Given the description of an element on the screen output the (x, y) to click on. 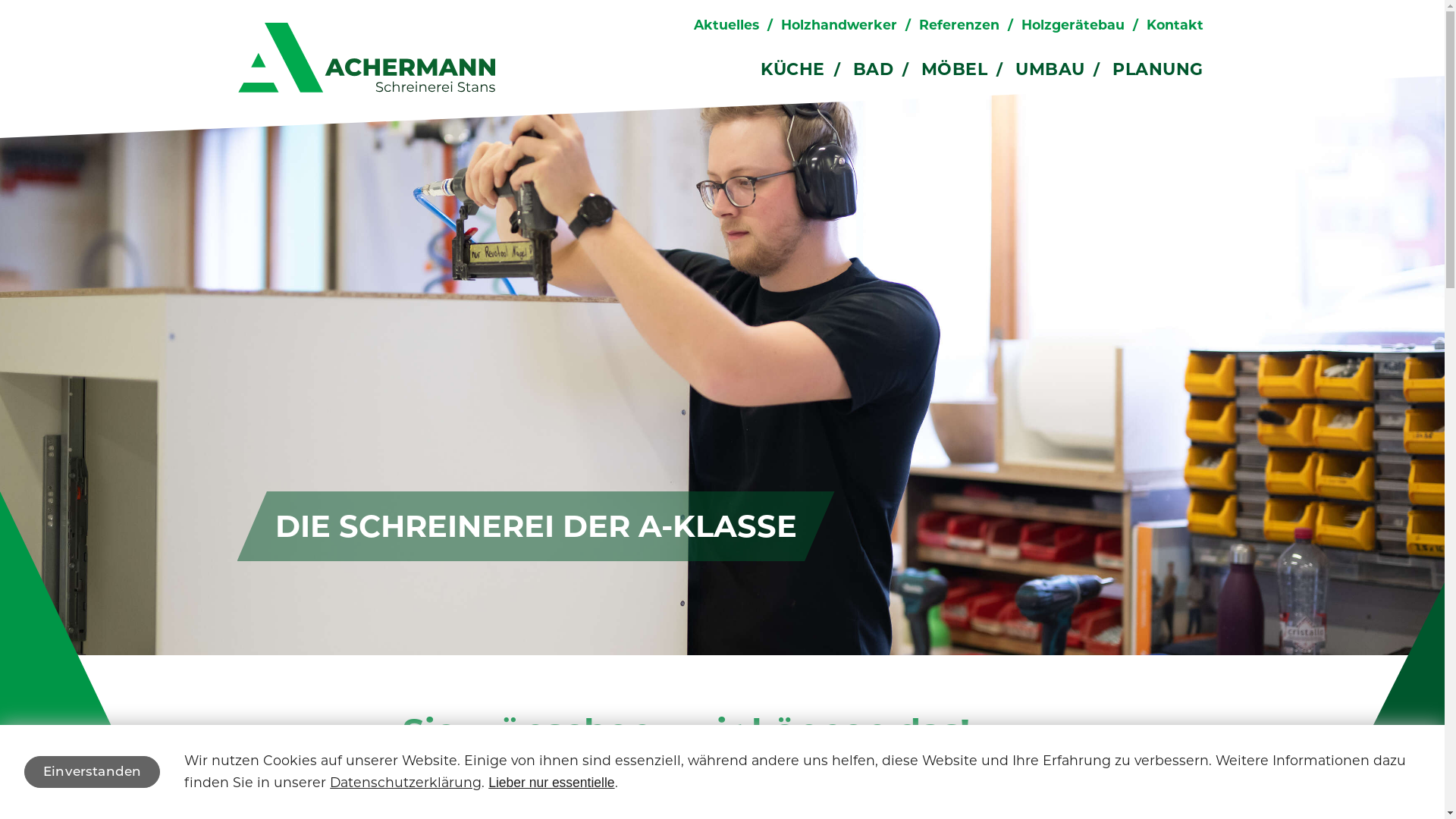
Kontakt Element type: text (1175, 24)
Holzhandwerker Element type: text (838, 24)
Referenzen Element type: text (959, 24)
BAD Element type: text (872, 69)
Achermann Schreinerei AG Element type: hover (365, 57)
Einverstanden Element type: text (92, 771)
PLANUNG Element type: text (1157, 69)
Aktuelles Element type: text (725, 24)
Lieber nur essentielle Element type: text (551, 782)
UMBAU Element type: text (1049, 69)
